Given the description of an element on the screen output the (x, y) to click on. 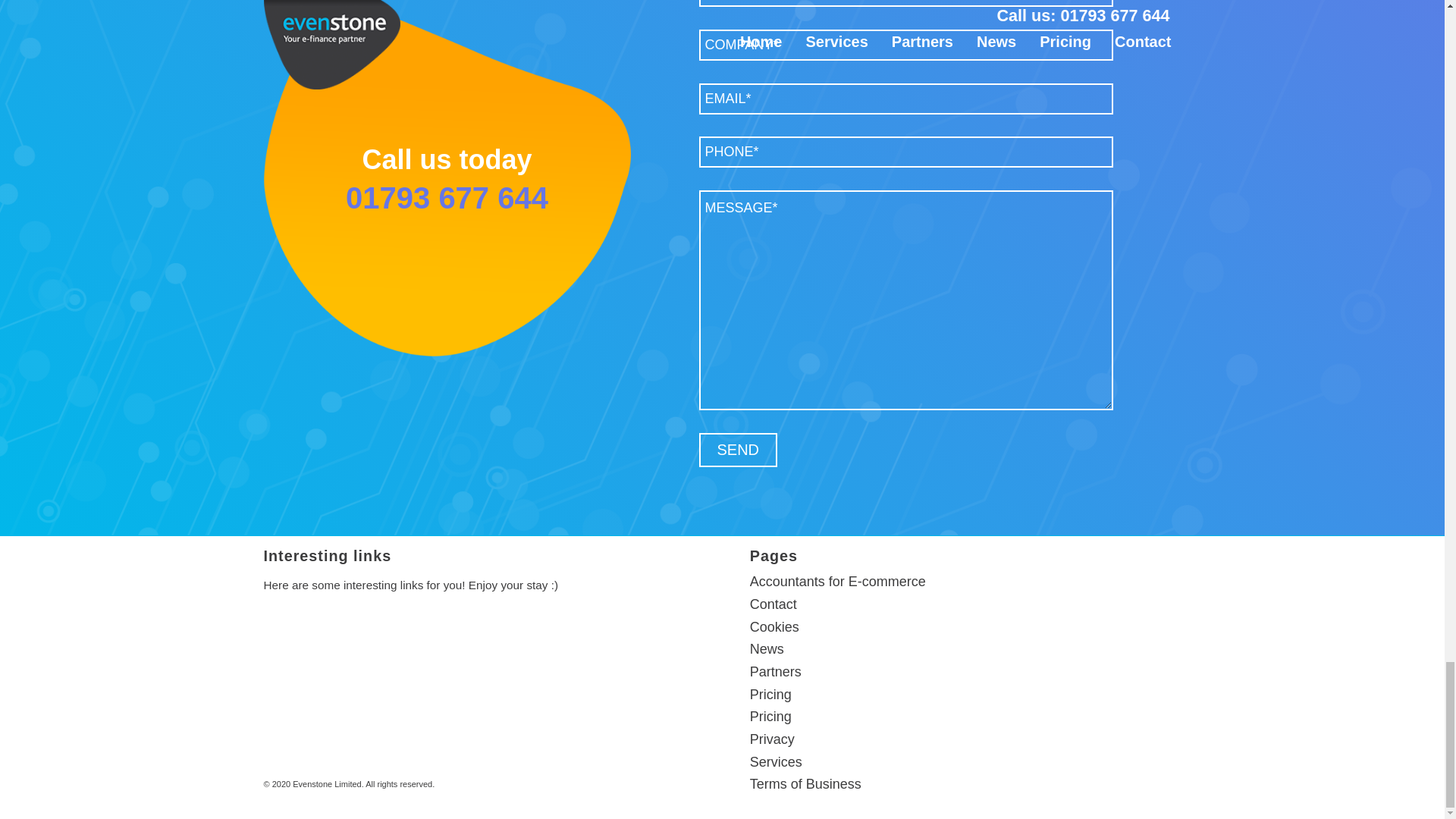
Send (737, 449)
Partners (775, 671)
Pricing (770, 716)
Cookies (774, 626)
Privacy (771, 739)
Terms of Business (805, 783)
News (766, 648)
Contact (772, 604)
Accountants for E-commerce (837, 581)
Services (775, 761)
